Given the description of an element on the screen output the (x, y) to click on. 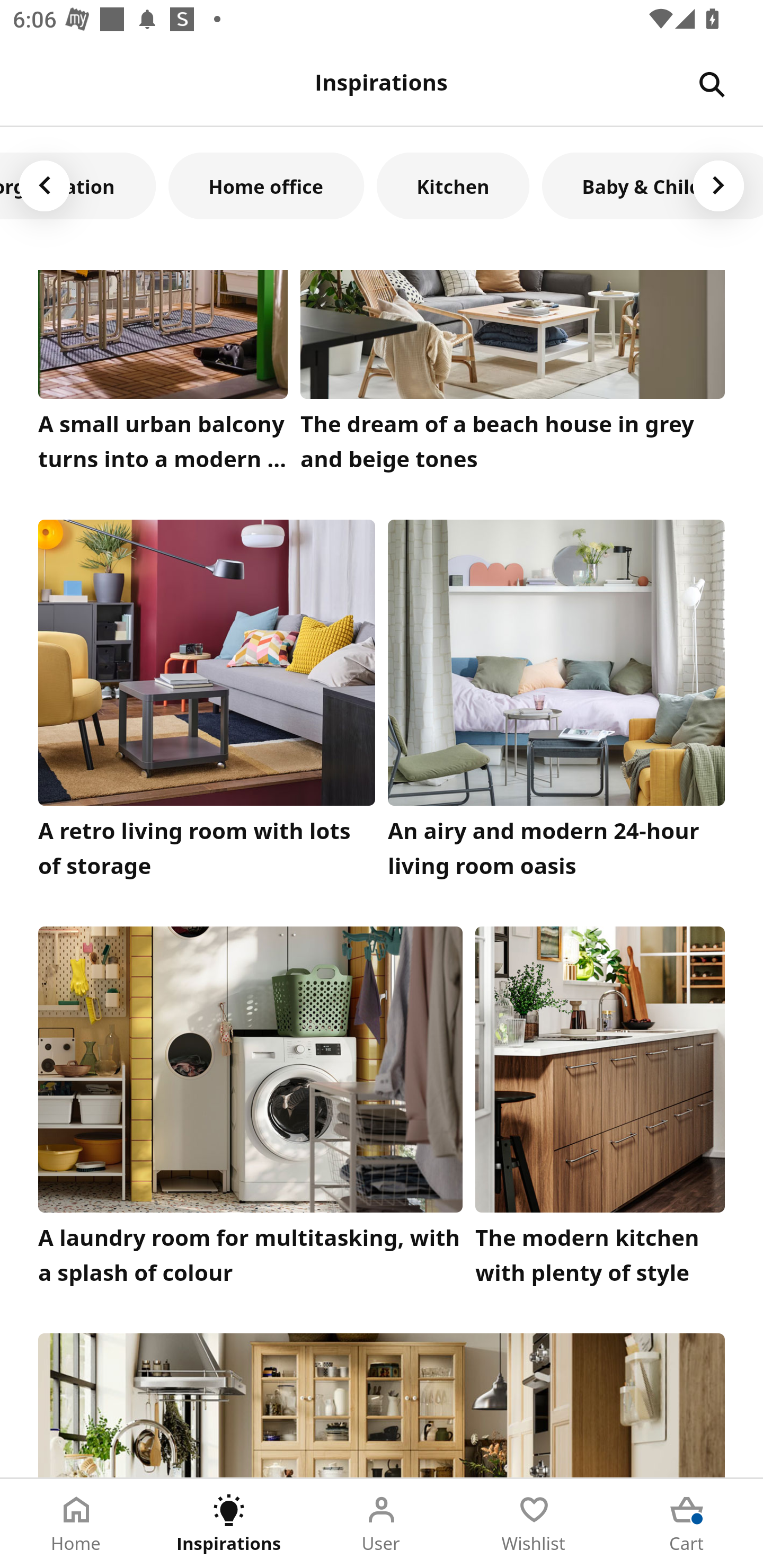
Home office (265, 185)
Kitchen (452, 185)
The dream of a beach house in grey and beige tones (512, 375)
A retro living room with lots of storage (206, 704)
An airy and modern 24-hour living room oasis (555, 704)
The modern kitchen with plenty of style (599, 1110)
Home
Tab 1 of 5 (76, 1522)
Inspirations
Tab 2 of 5 (228, 1522)
User
Tab 3 of 5 (381, 1522)
Wishlist
Tab 4 of 5 (533, 1522)
Cart
Tab 5 of 5 (686, 1522)
